Given the description of an element on the screen output the (x, y) to click on. 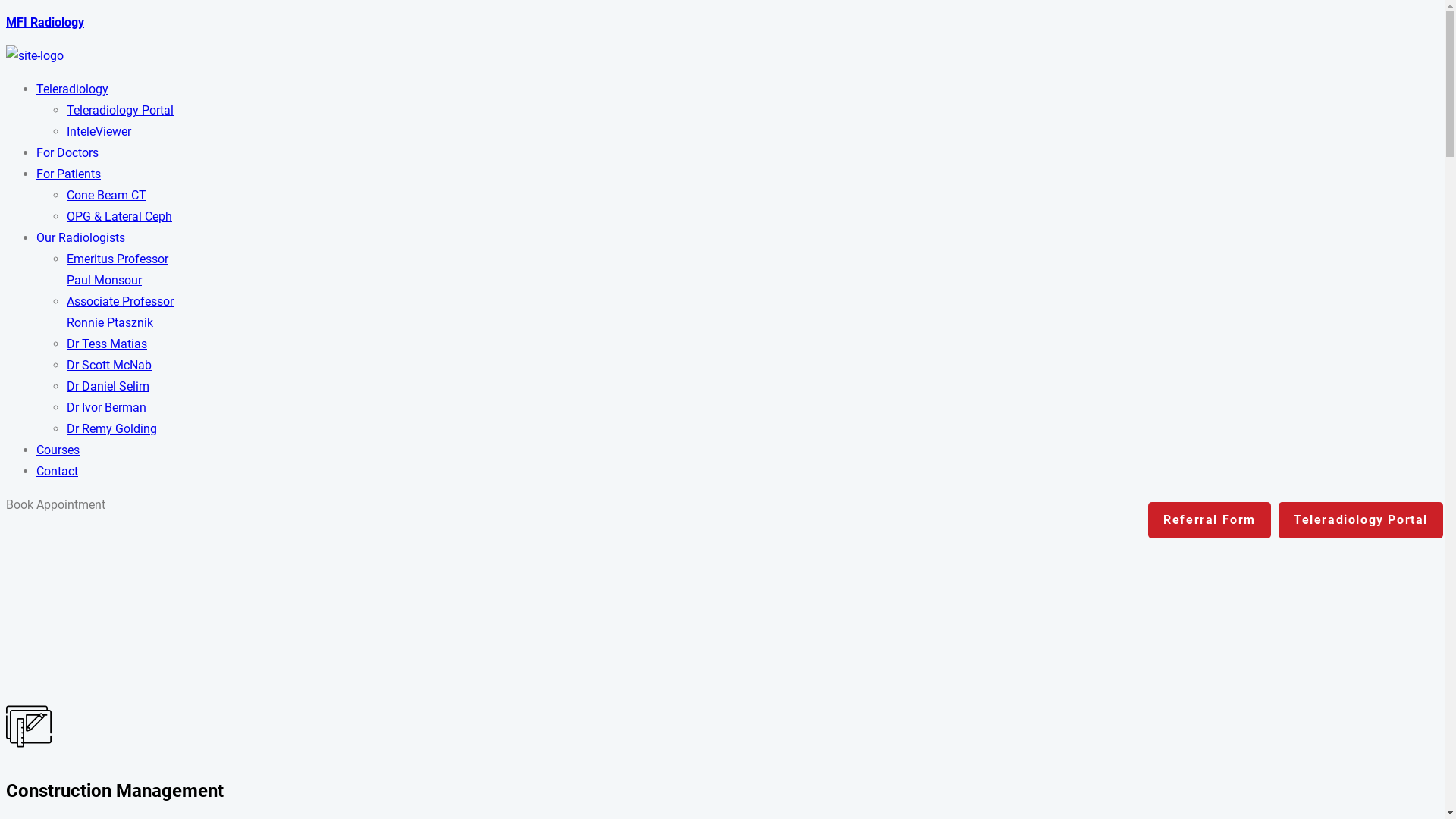
Associate Professor
Ronnie Ptasznik Element type: text (119, 311)
Book Appointment Element type: text (55, 504)
MFI Radiology Element type: text (45, 22)
Emeritus Professor
Paul Monsour Element type: text (117, 269)
Referral Form Element type: text (1209, 520)
Teleradiology Element type: text (72, 88)
Dr Tess Matias Element type: text (106, 343)
Teleradiology Portal Element type: text (119, 110)
Dr Scott McNab Element type: text (108, 364)
Dr Daniel Selim Element type: text (107, 386)
Cone Beam CT Element type: text (106, 195)
Teleradiology Portal Element type: text (1360, 520)
Contact Element type: text (57, 471)
InteleViewer Element type: text (98, 131)
For Doctors Element type: text (67, 152)
Dr Ivor Berman Element type: text (106, 407)
Our Radiologists Element type: text (80, 237)
For Patients Element type: text (68, 173)
Courses Element type: text (57, 449)
OPG & Lateral Ceph Element type: text (119, 216)
Dr Remy Golding Element type: text (111, 428)
